Given the description of an element on the screen output the (x, y) to click on. 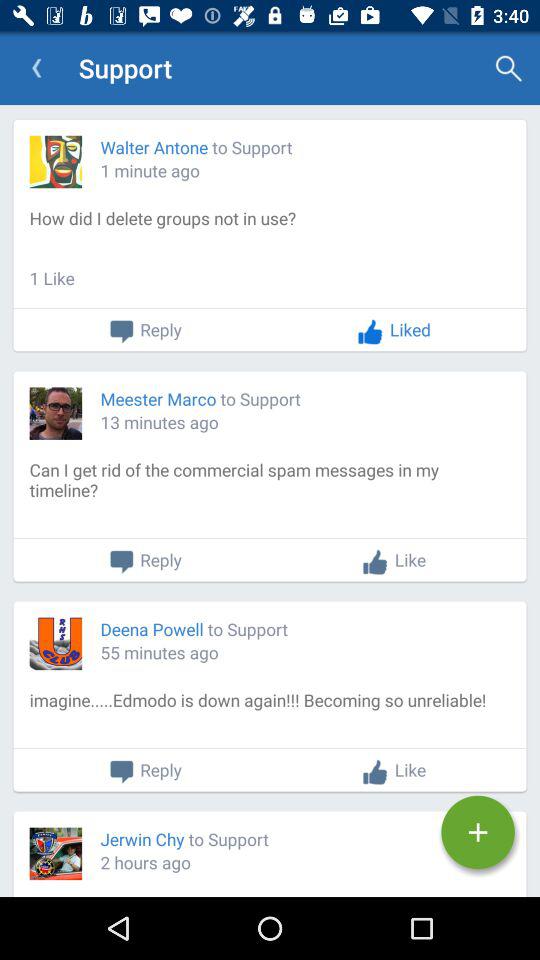
select the reply button which is above jerwin chy (145, 771)
select the complete profile information of the first person in the page (269, 235)
click on the add option to the left of the text jerwin chy to support (478, 831)
select the liked button on page (394, 330)
select the icon which is at the top right corner (508, 68)
